Given the description of an element on the screen output the (x, y) to click on. 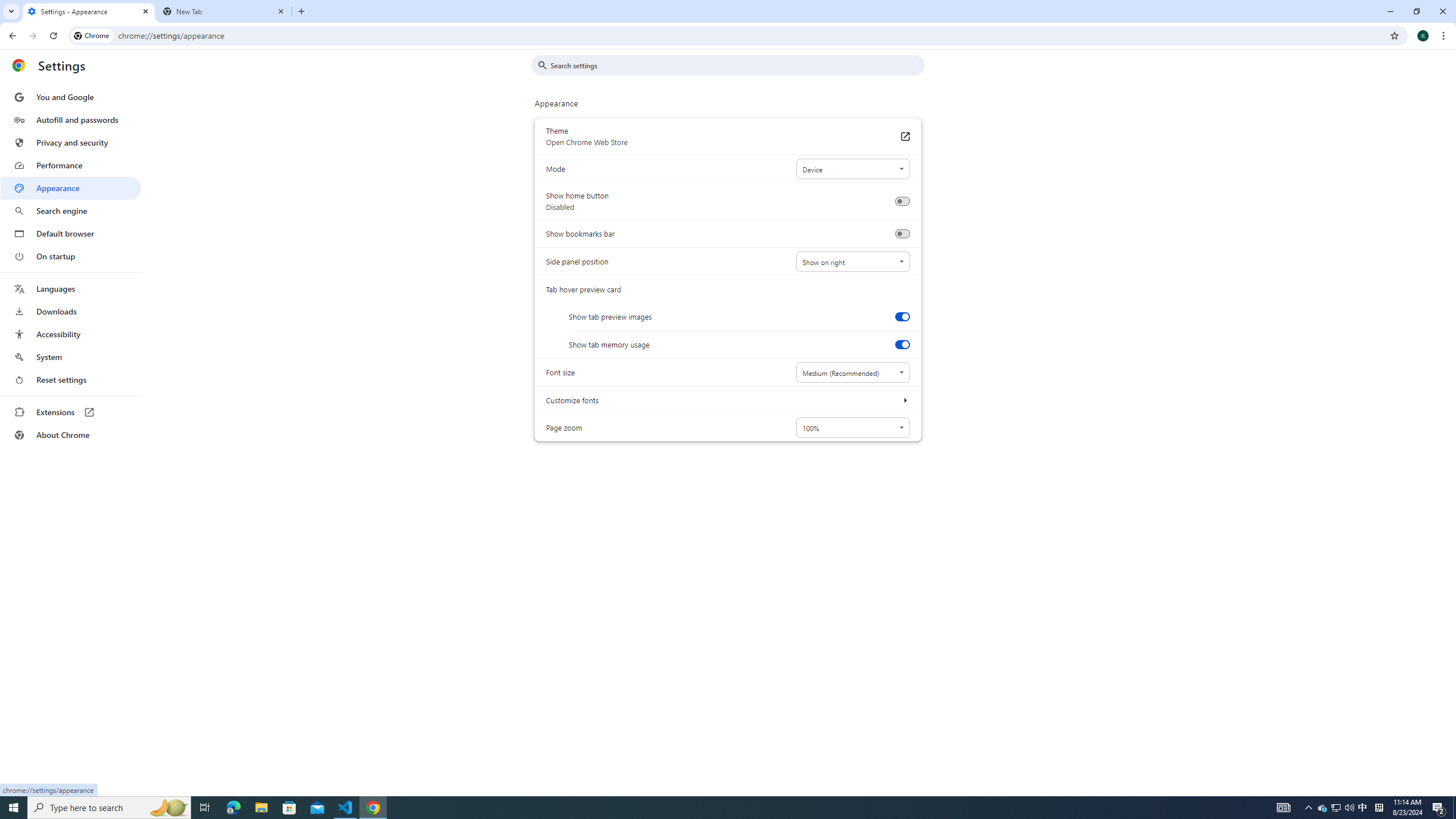
Show home button (901, 201)
You and Google (70, 96)
Theme Open Chrome Web Store (904, 136)
Privacy and security (70, 142)
About Chrome (70, 434)
Settings - Appearance (88, 11)
Downloads (70, 311)
Languages (70, 288)
Side panel position (852, 261)
Show tab preview images (901, 316)
